Given the description of an element on the screen output the (x, y) to click on. 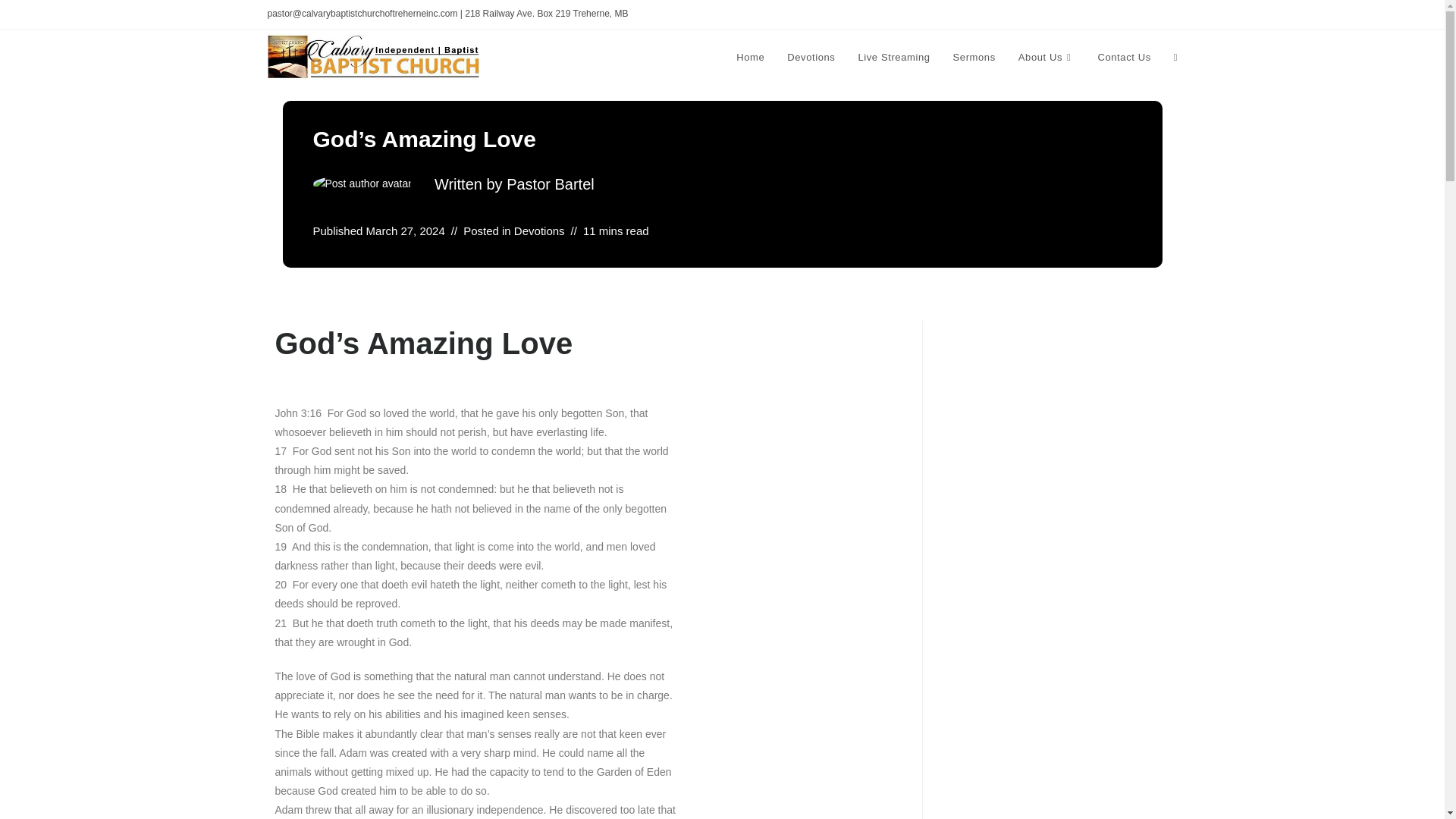
Contact Us (1123, 57)
Devotions (538, 230)
About Us (1046, 57)
Live Streaming (892, 57)
Sermons (974, 57)
Pastor Bartel (550, 184)
Devotions (810, 57)
Home (750, 57)
